Given the description of an element on the screen output the (x, y) to click on. 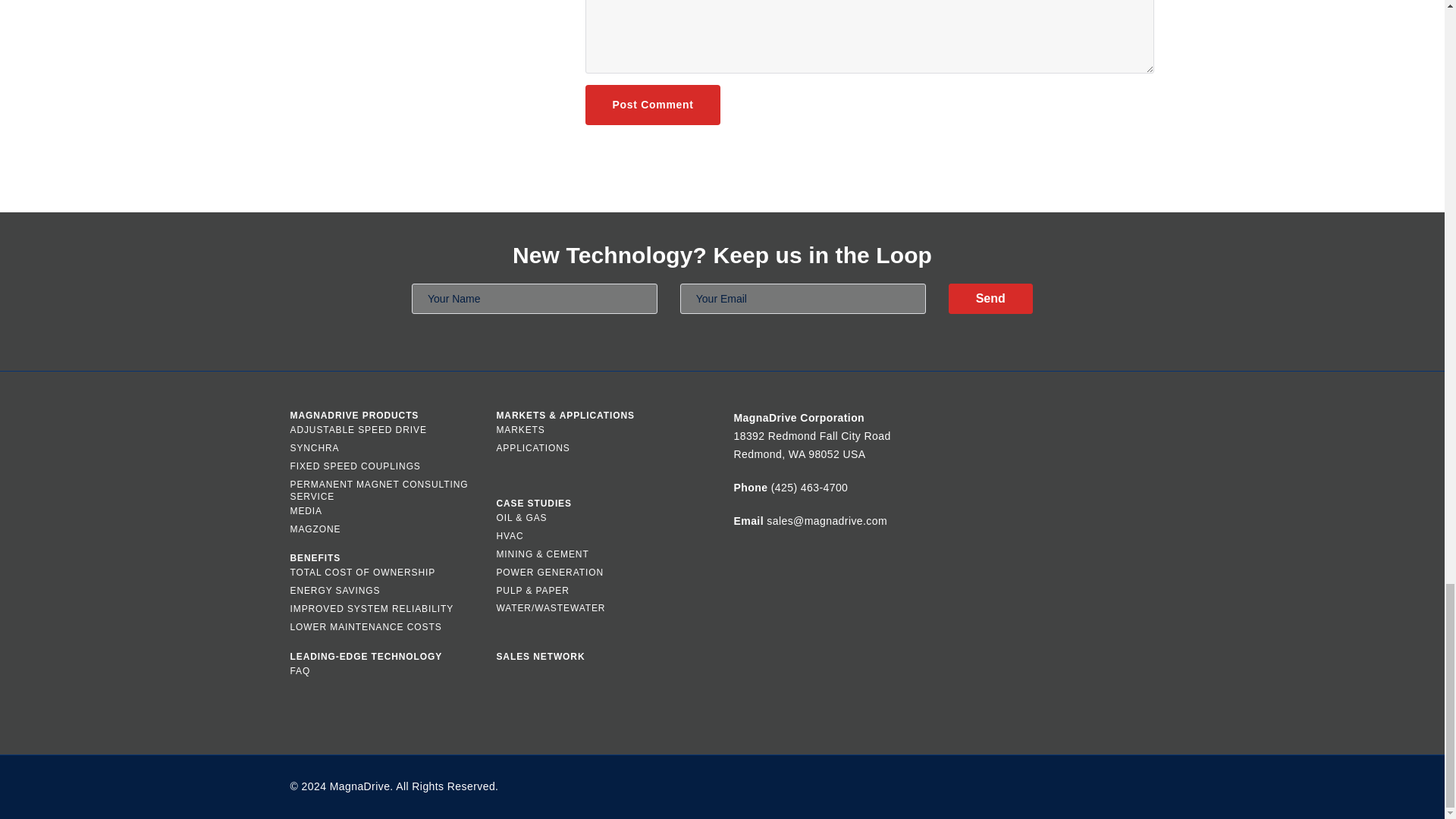
post comment (652, 105)
Send (989, 298)
post comment (652, 105)
